Given the description of an element on the screen output the (x, y) to click on. 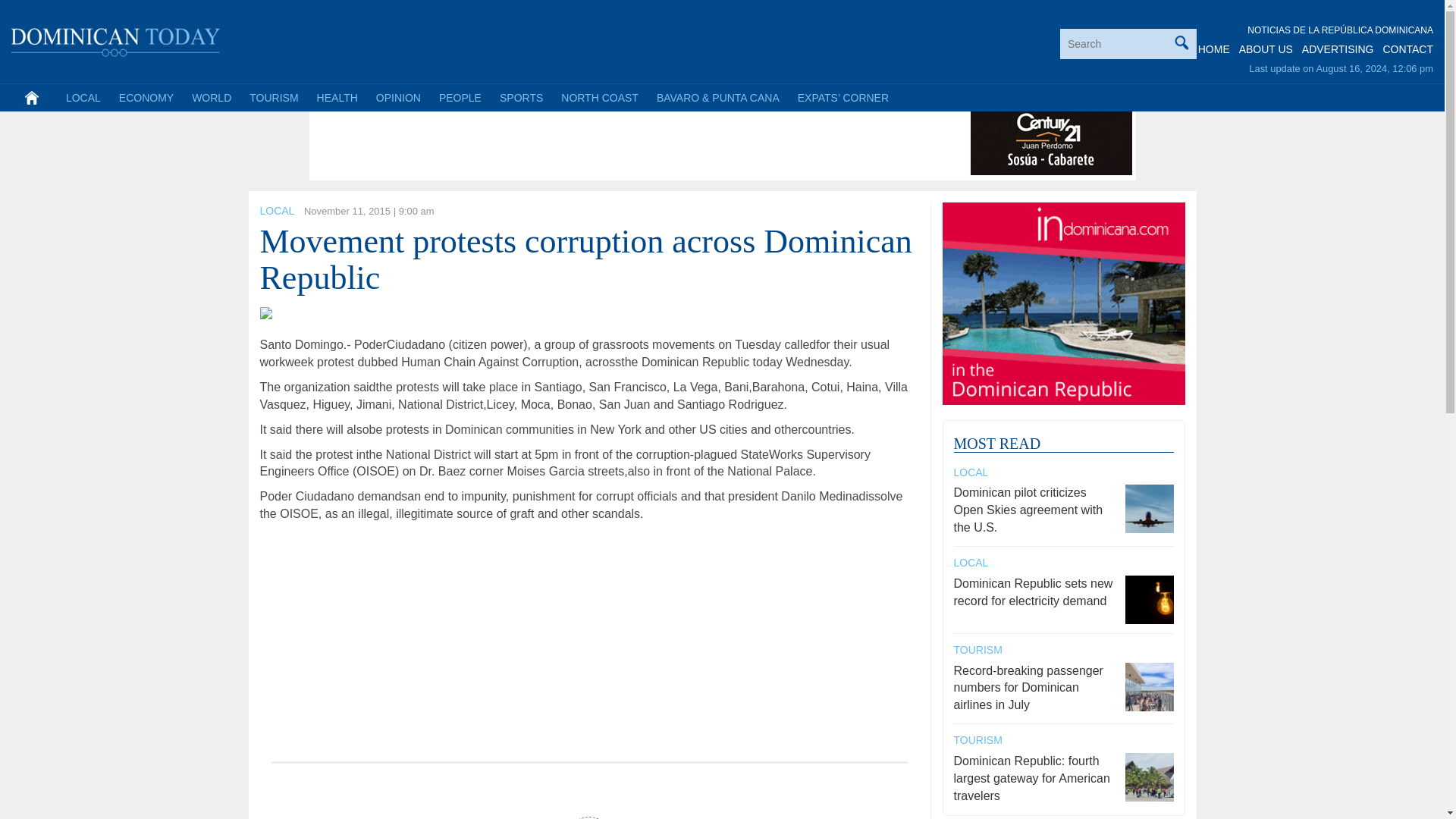
PEOPLE (459, 97)
CONTACT (1406, 49)
Dominican Today News - Santo Domingo and Dominican Republic (116, 38)
NORTH COAST (599, 97)
ABOUT US (1265, 49)
LOCAL (83, 97)
ECONOMY (146, 97)
HEALTH (336, 97)
LOCAL (276, 210)
HOME (1214, 49)
